Given the description of an element on the screen output the (x, y) to click on. 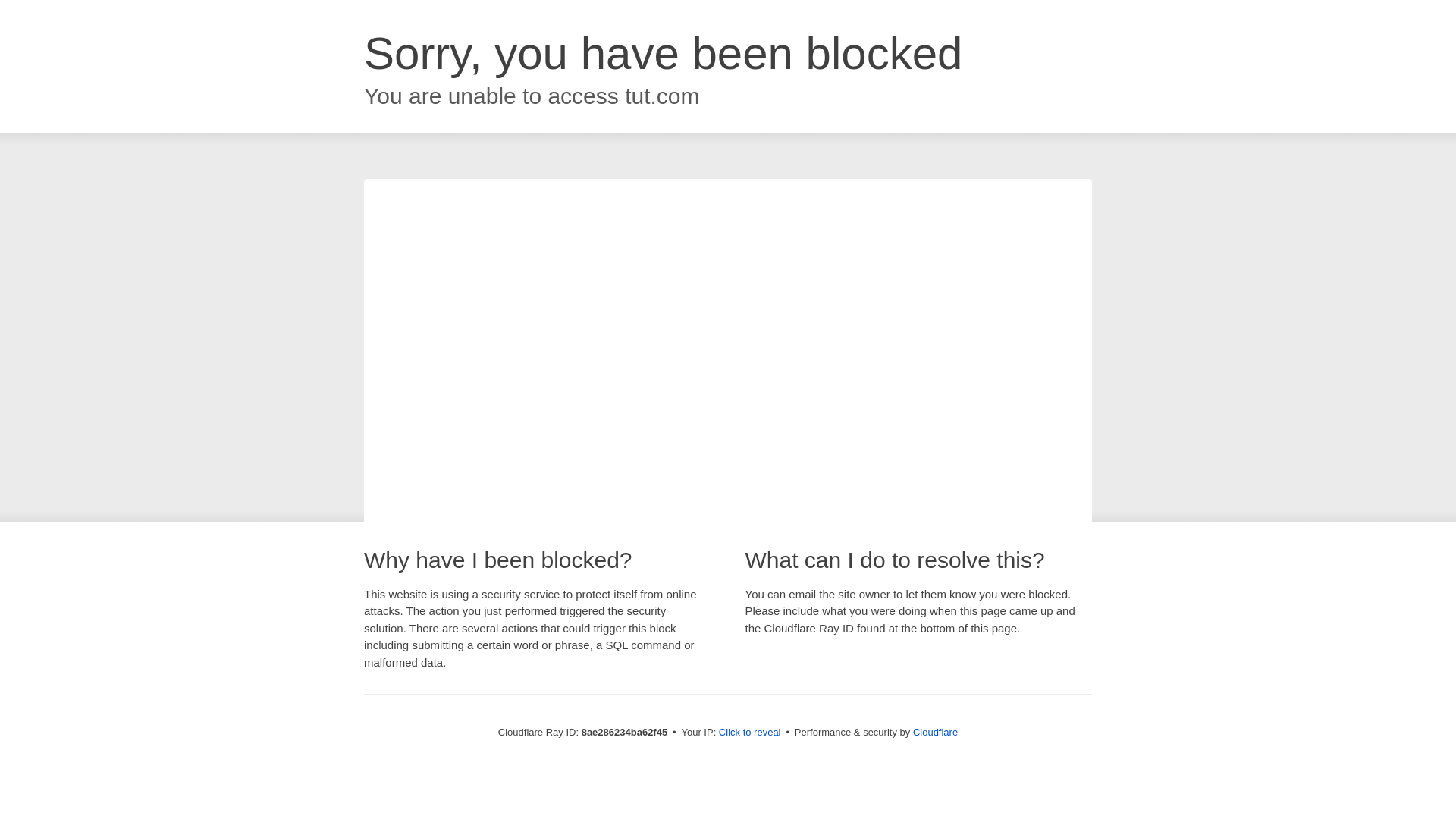
Cloudflare (935, 731)
Click to reveal (749, 732)
